Given the description of an element on the screen output the (x, y) to click on. 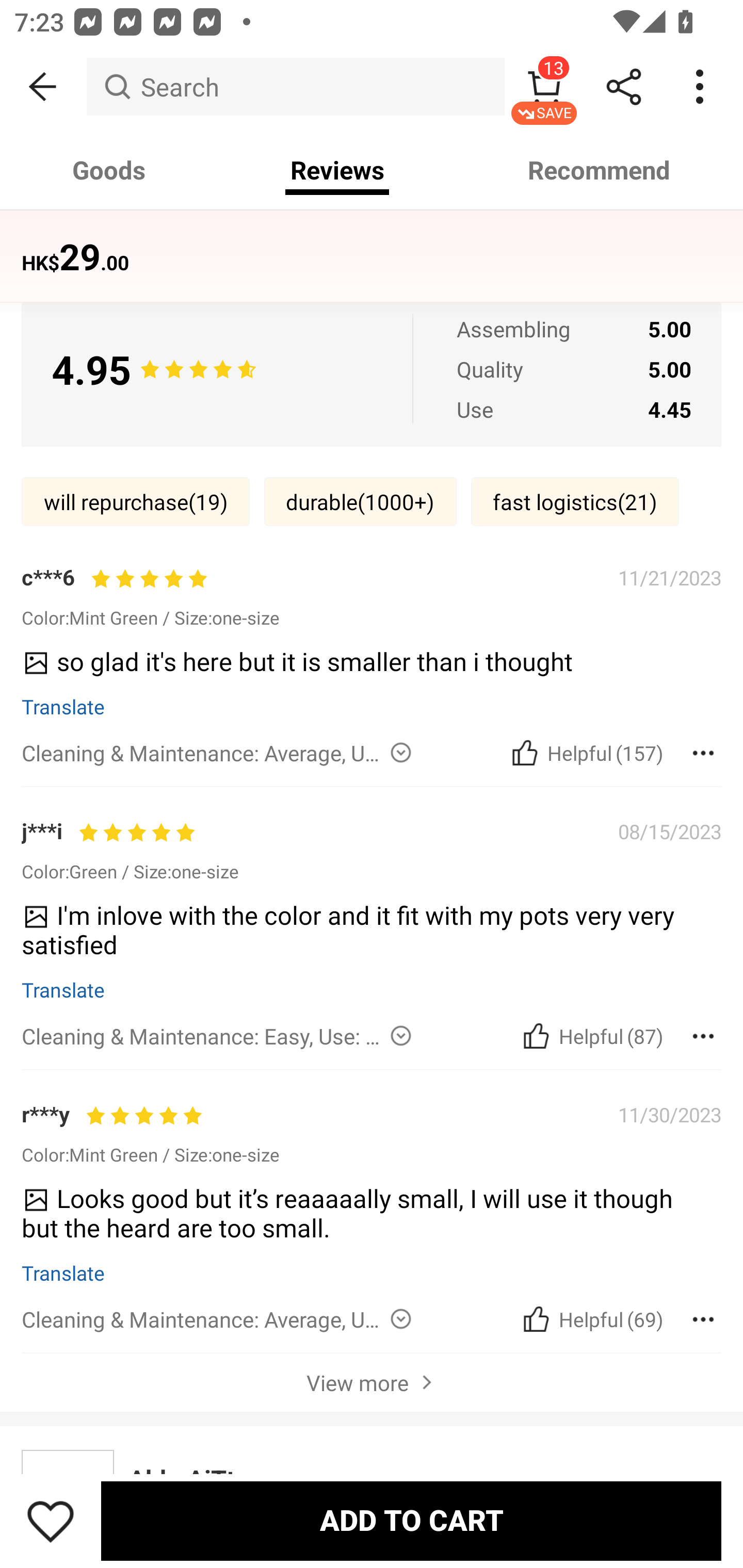
BACK (43, 86)
13 SAVE (543, 87)
Search (295, 87)
Goods (109, 170)
Reviews (337, 170)
Recommend (599, 170)
will repurchase(19) (135, 501)
durable(1000‎+) (360, 501)
fast logistics(21) (575, 501)
Translate (62, 706)
Cancel Helpful Was this article helpful? (157) (585, 752)
Translate (62, 989)
Cancel Helpful Was this article helpful? (87) (591, 1035)
Translate (62, 1272)
Cancel Helpful Was this article helpful? (69) (591, 1319)
ADD TO CART (411, 1520)
Save (50, 1520)
